Given the description of an element on the screen output the (x, y) to click on. 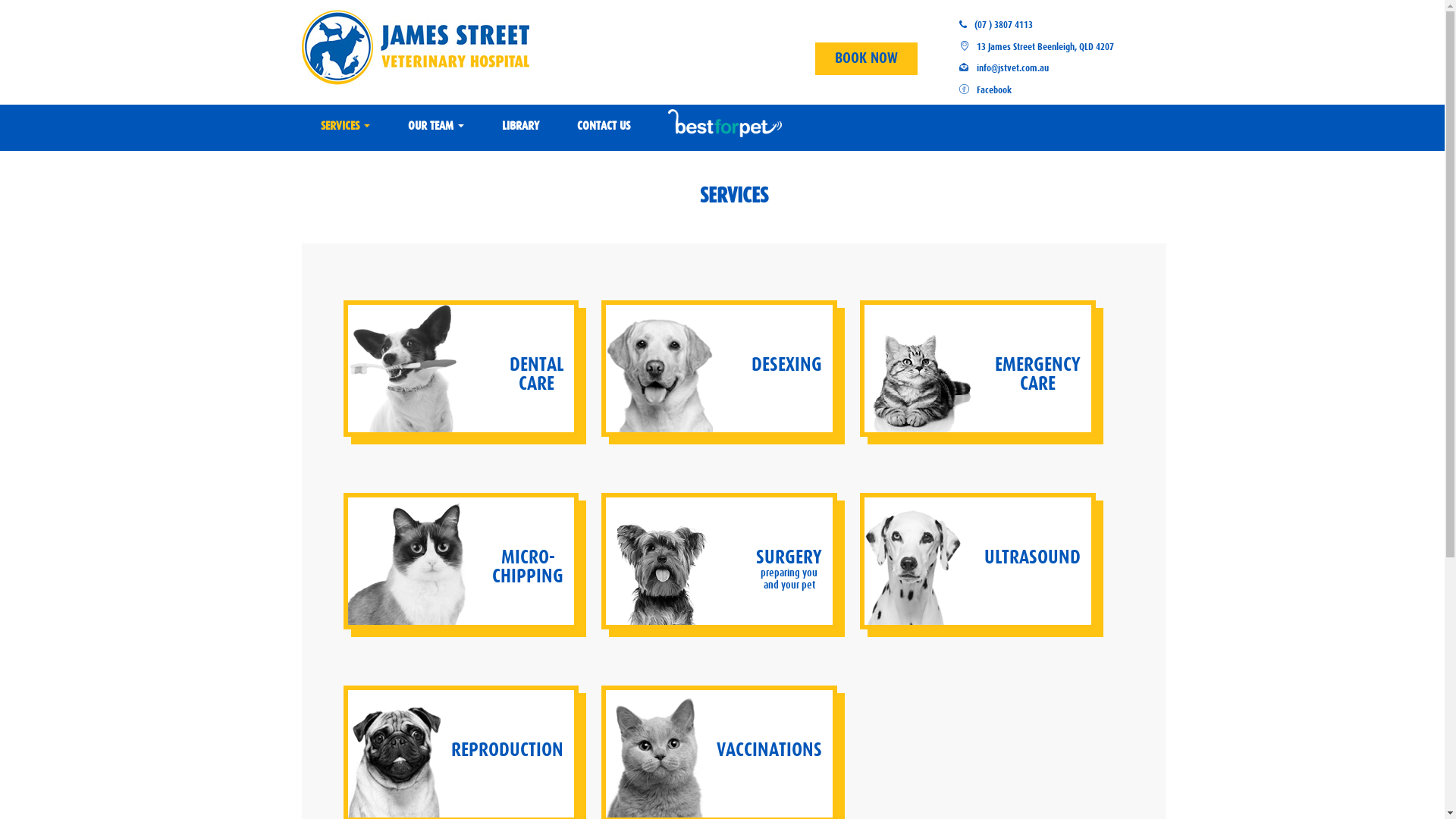
13 James Street Beenleigh, QLD 4207 Element type: text (1044, 46)
LIBRARY Element type: text (519, 125)
info@jstvet.com.au Element type: text (1012, 67)
OUR TEAM Element type: text (435, 125)
SERVICES Element type: text (345, 125)
CONTACT US Element type: text (603, 125)
(07 ) 3807 4113 Element type: text (1003, 24)
BOOK NOW Element type: text (866, 58)
Facebook Element type: text (993, 89)
